Given the description of an element on the screen output the (x, y) to click on. 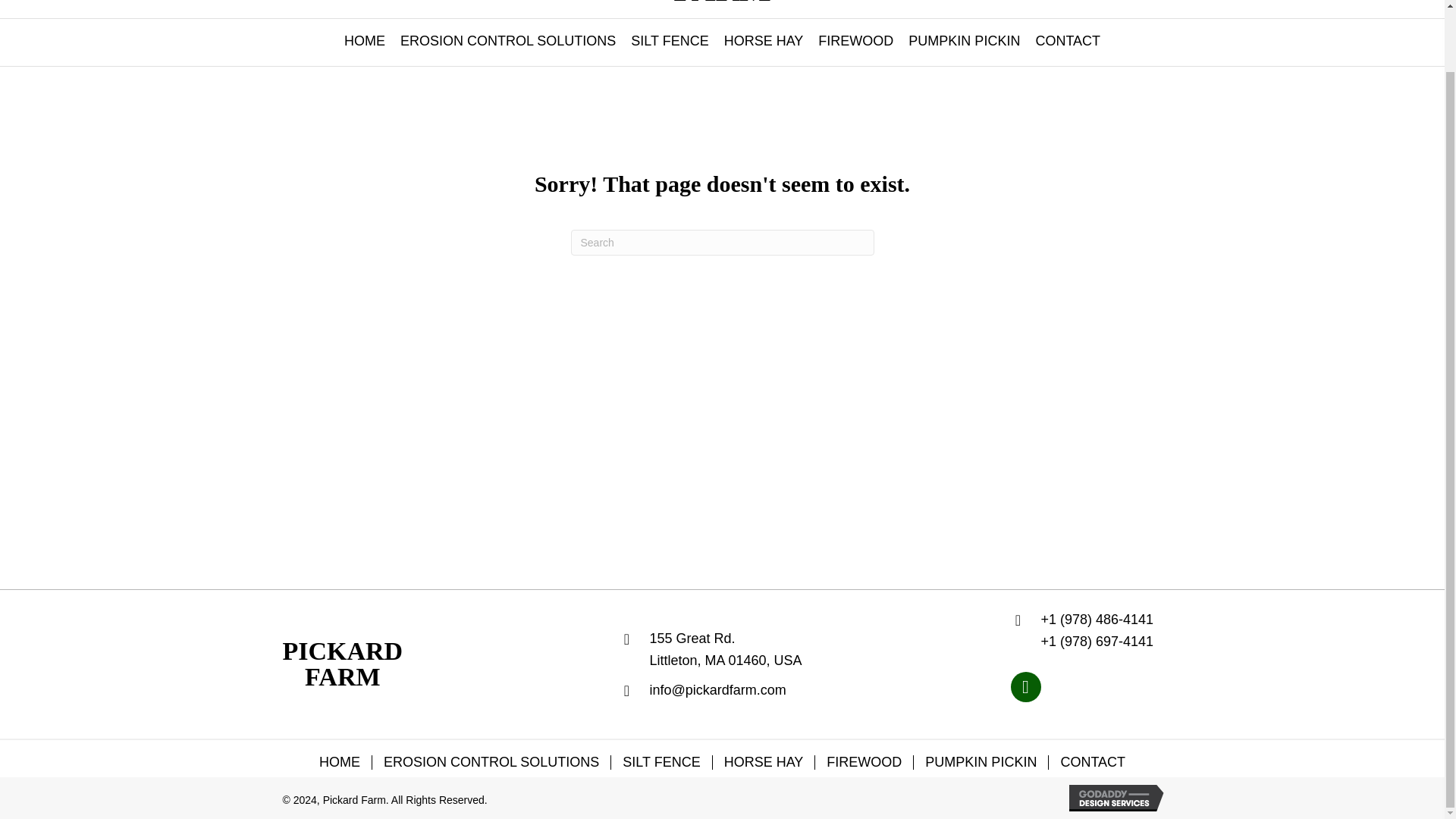
CONTACT (1067, 42)
HOME (722, 4)
HORSE HAY (364, 42)
SILT FENCE (763, 42)
FIREWOOD (668, 42)
PUMPKIN PICKIN (855, 42)
EROSION CONTROL SOLUTIONS (964, 42)
Silt Fence Installations (507, 42)
